Given the description of an element on the screen output the (x, y) to click on. 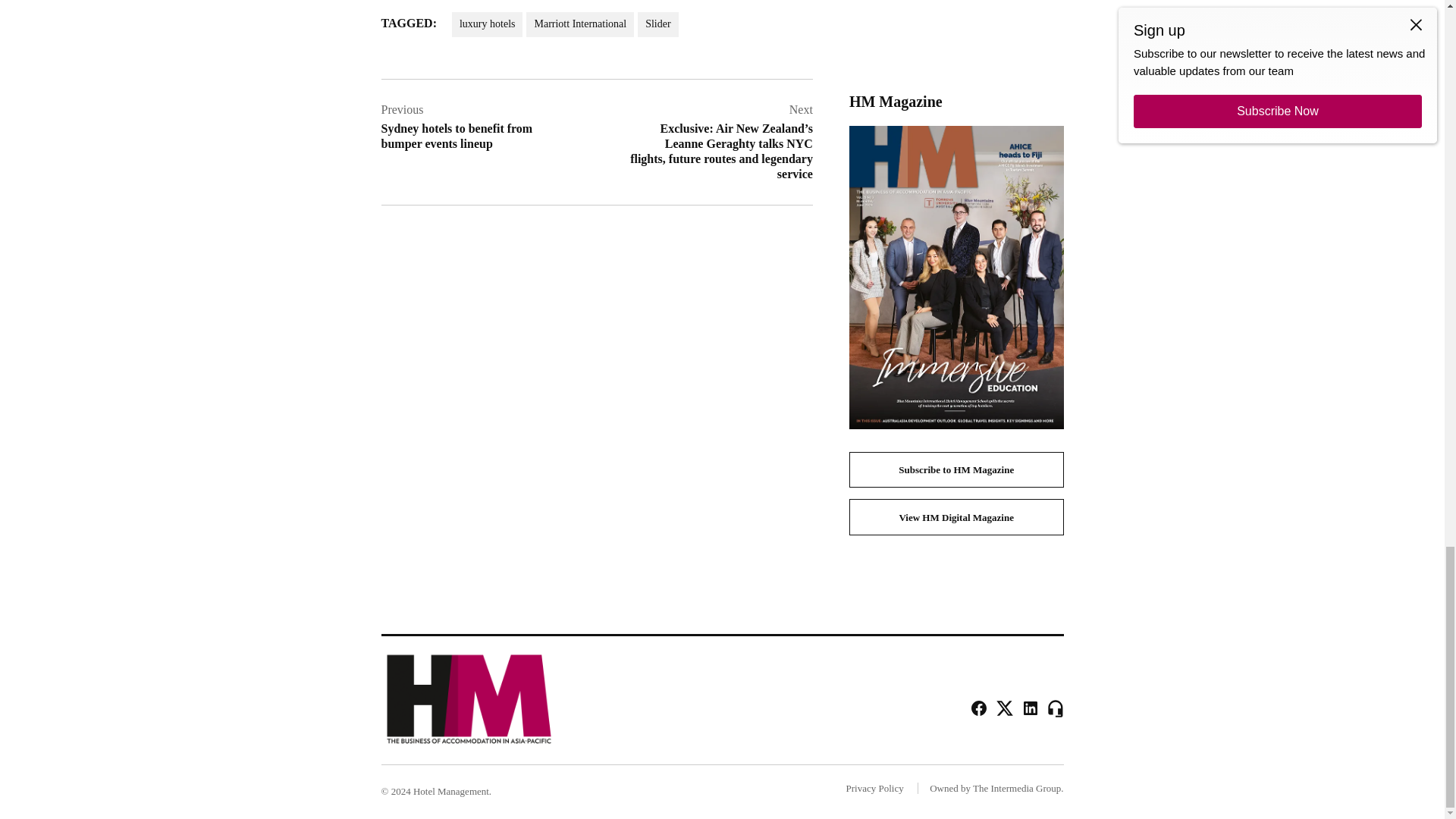
3rd party ad content (956, 34)
